Given the description of an element on the screen output the (x, y) to click on. 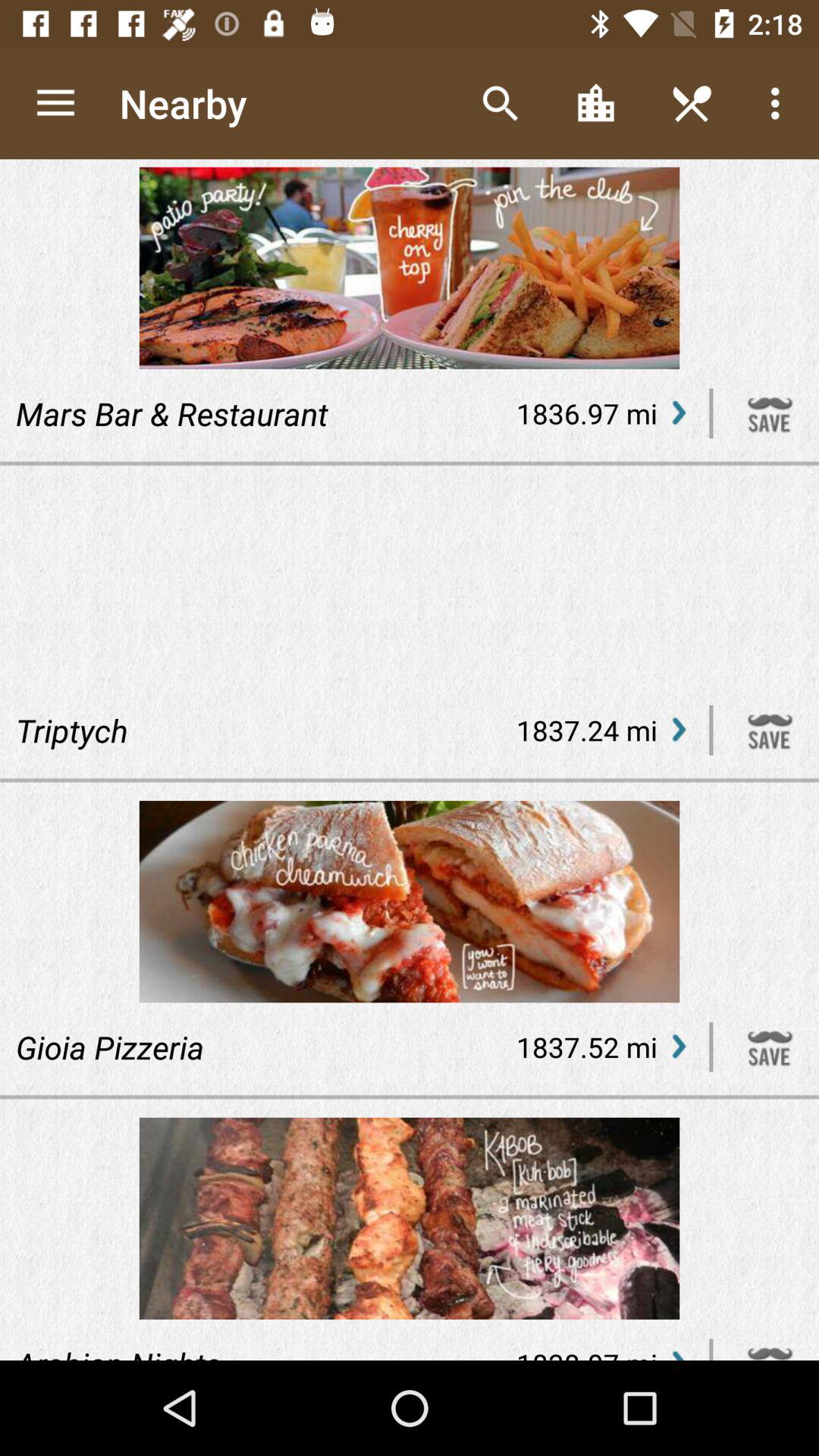
saves the recipe (770, 729)
